Given the description of an element on the screen output the (x, y) to click on. 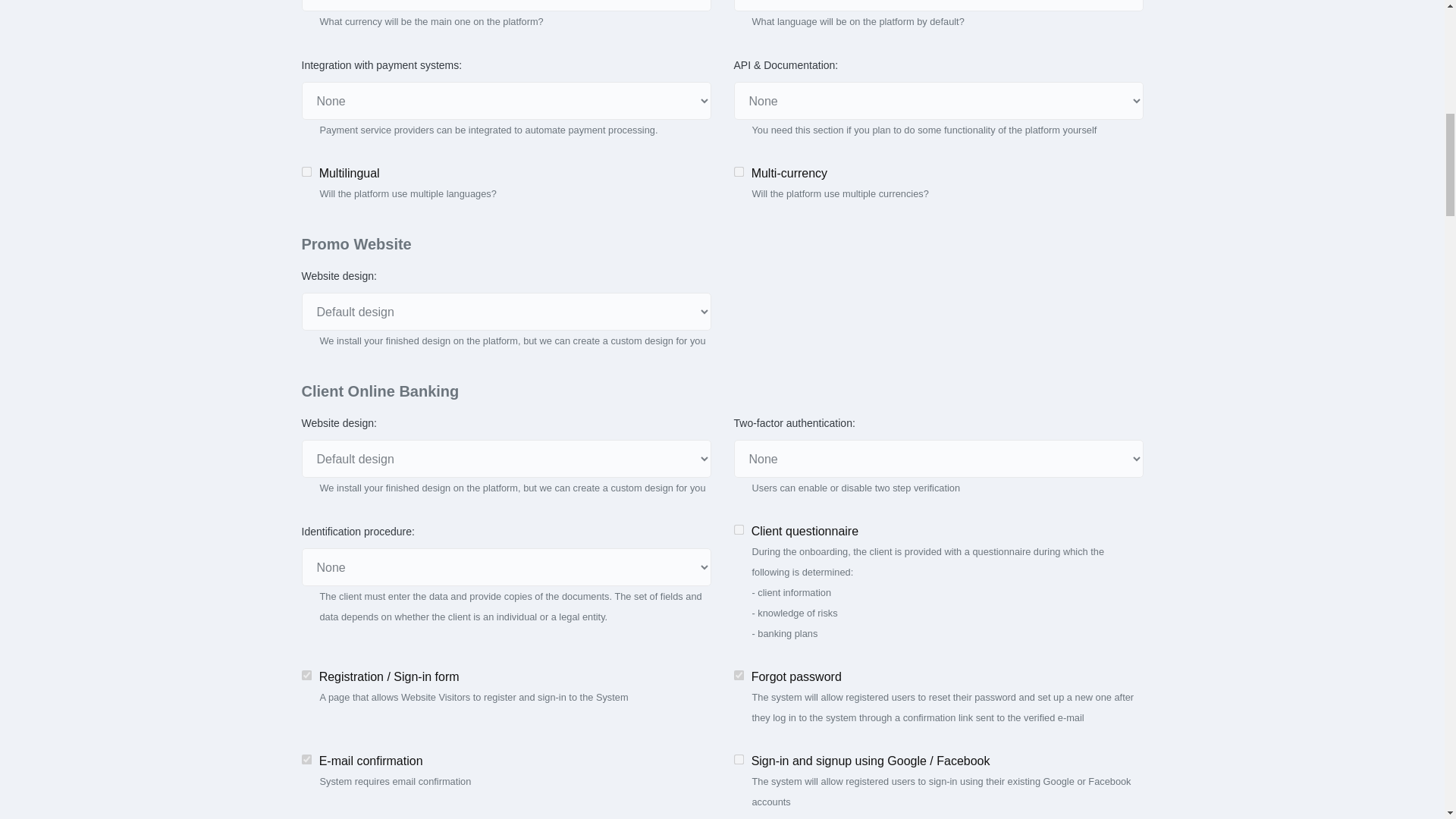
on (671, 615)
on (278, 615)
on (278, 540)
on (671, 692)
on (671, 81)
on (671, 540)
on (278, 81)
on (671, 407)
on (278, 692)
